Given the description of an element on the screen output the (x, y) to click on. 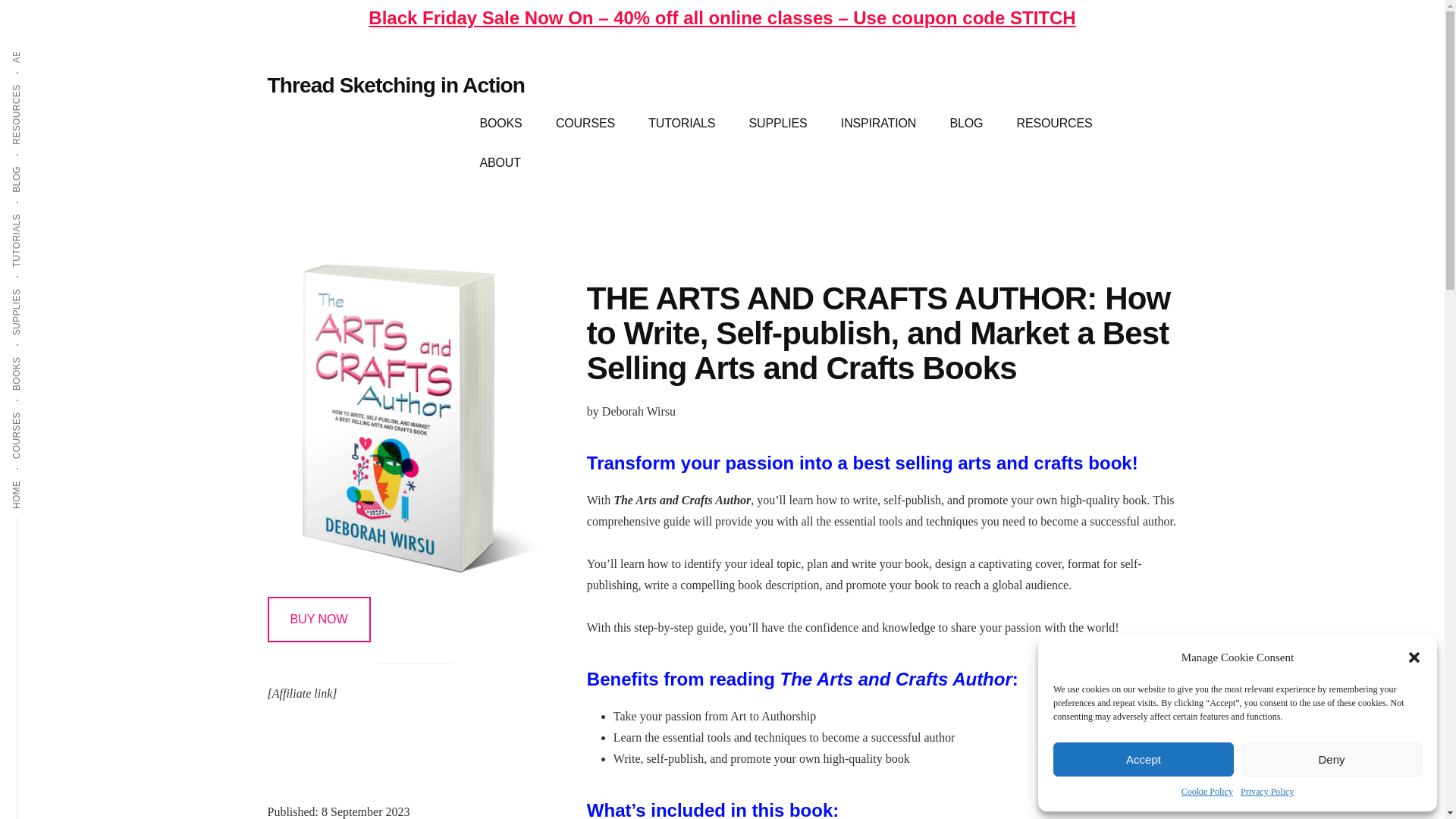
BOOKS (500, 123)
ABOUT (33, 28)
RESOURCES (47, 82)
SUPPLIES (777, 123)
Thread Sketching in Action (395, 85)
TUTORIALS (681, 123)
SUPPLIES (41, 287)
TUTORIALS (44, 212)
Cookie Policy (1206, 791)
